Given the description of an element on the screen output the (x, y) to click on. 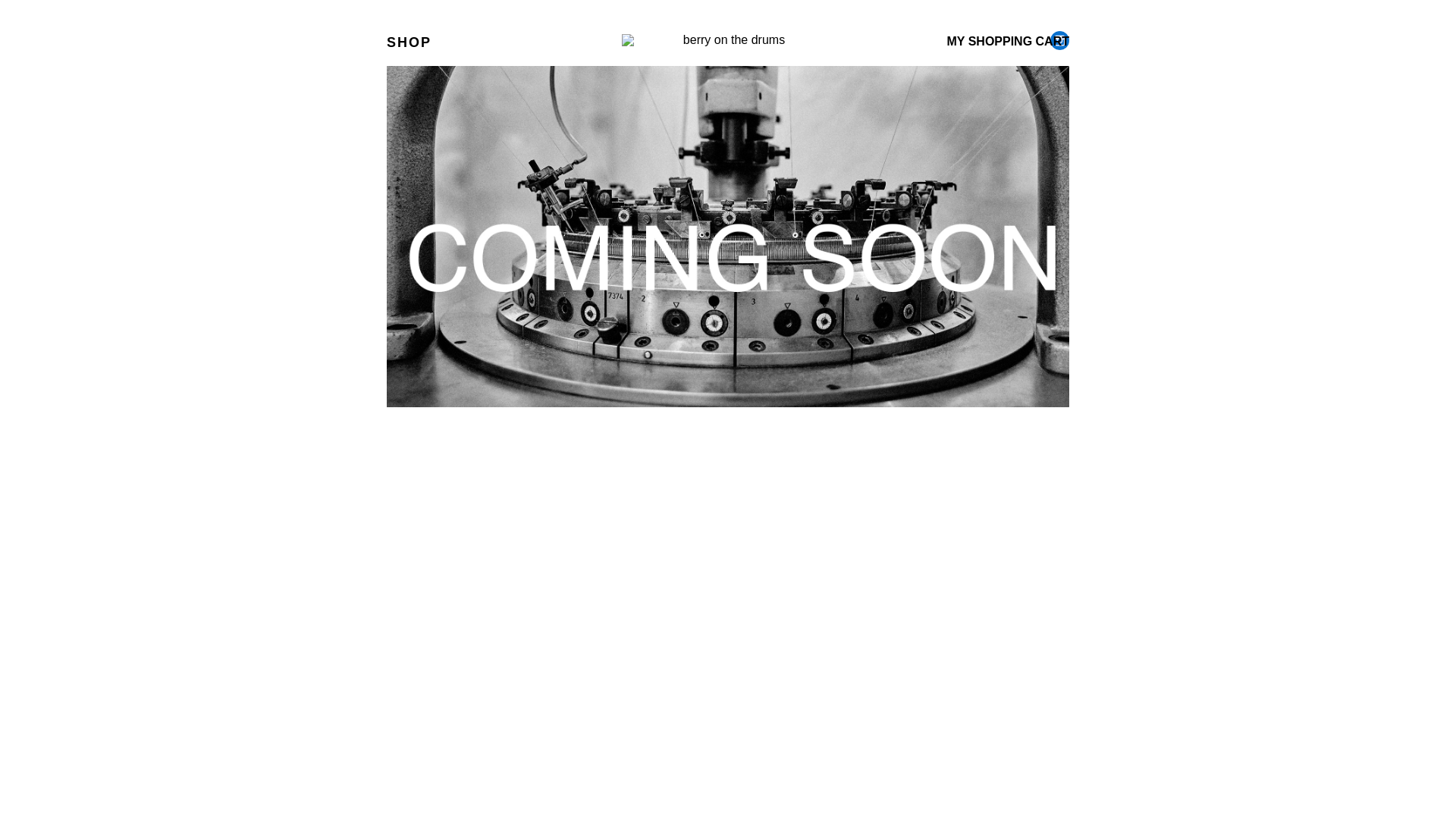
SHOP Element type: text (448, 43)
MY SHOPPING CART Element type: text (1007, 41)
